Given the description of an element on the screen output the (x, y) to click on. 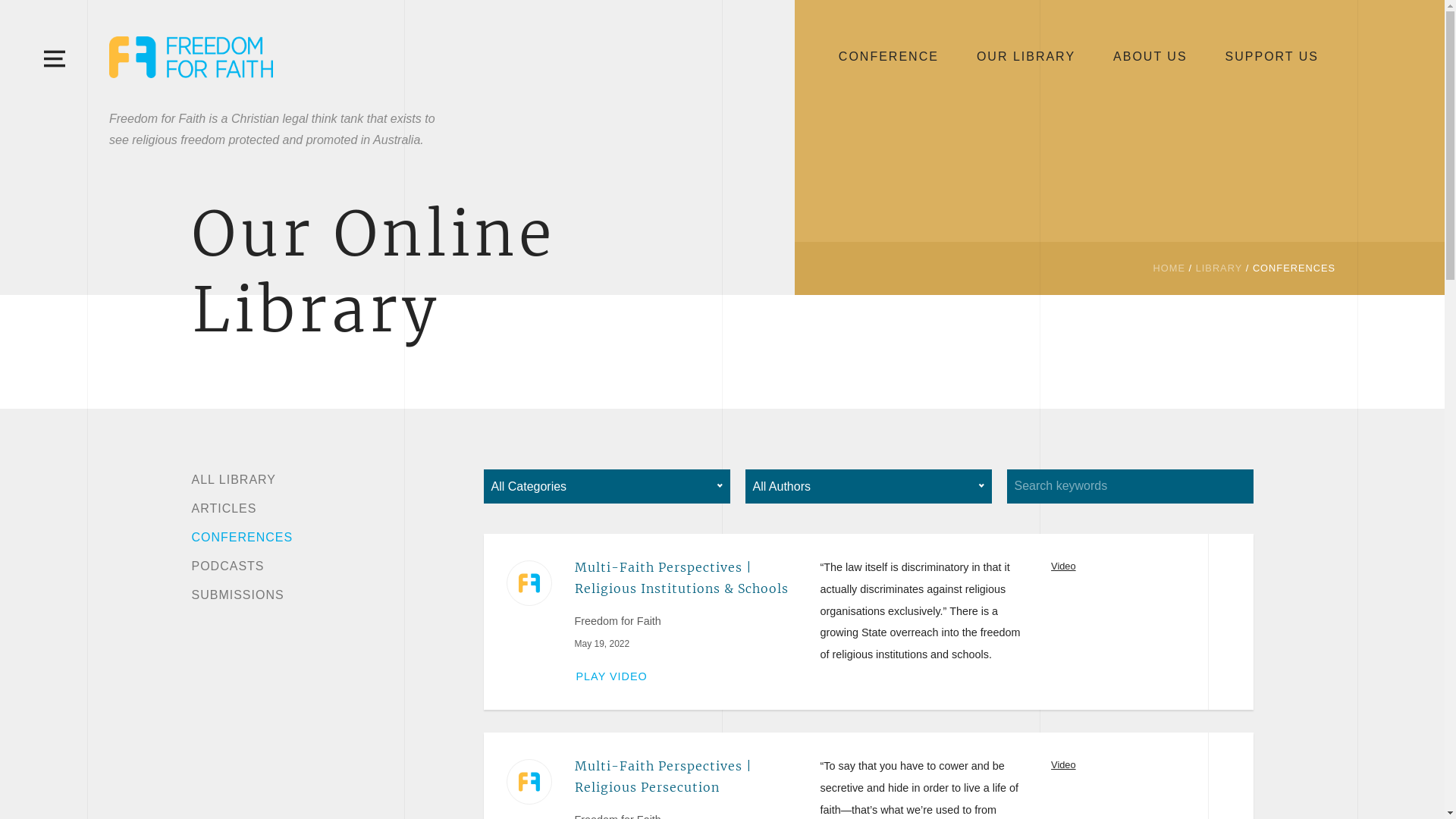
ABOUT US Element type: text (1150, 56)
Search Element type: text (873, 338)
OUR LIBRARY Element type: text (1025, 56)
Video Element type: text (1063, 764)
ARTICLES Element type: text (223, 508)
PLAY VIDEO Element type: text (610, 676)
CONFERENCE Element type: text (888, 56)
Video Element type: text (1063, 565)
CONFERENCES Element type: text (241, 536)
HOME Element type: text (1169, 268)
ALL LIBRARY Element type: text (233, 479)
LIBRARY Element type: text (1218, 268)
PODCASTS Element type: text (227, 565)
Multi-Faith Perspectives | Religious Persecution Element type: text (685, 776)
Multi-Faith Perspectives | Religious Institutions & Schools Element type: text (685, 577)
SUPPORT US Element type: text (1271, 56)
SUBMISSIONS Element type: text (237, 594)
